Given the description of an element on the screen output the (x, y) to click on. 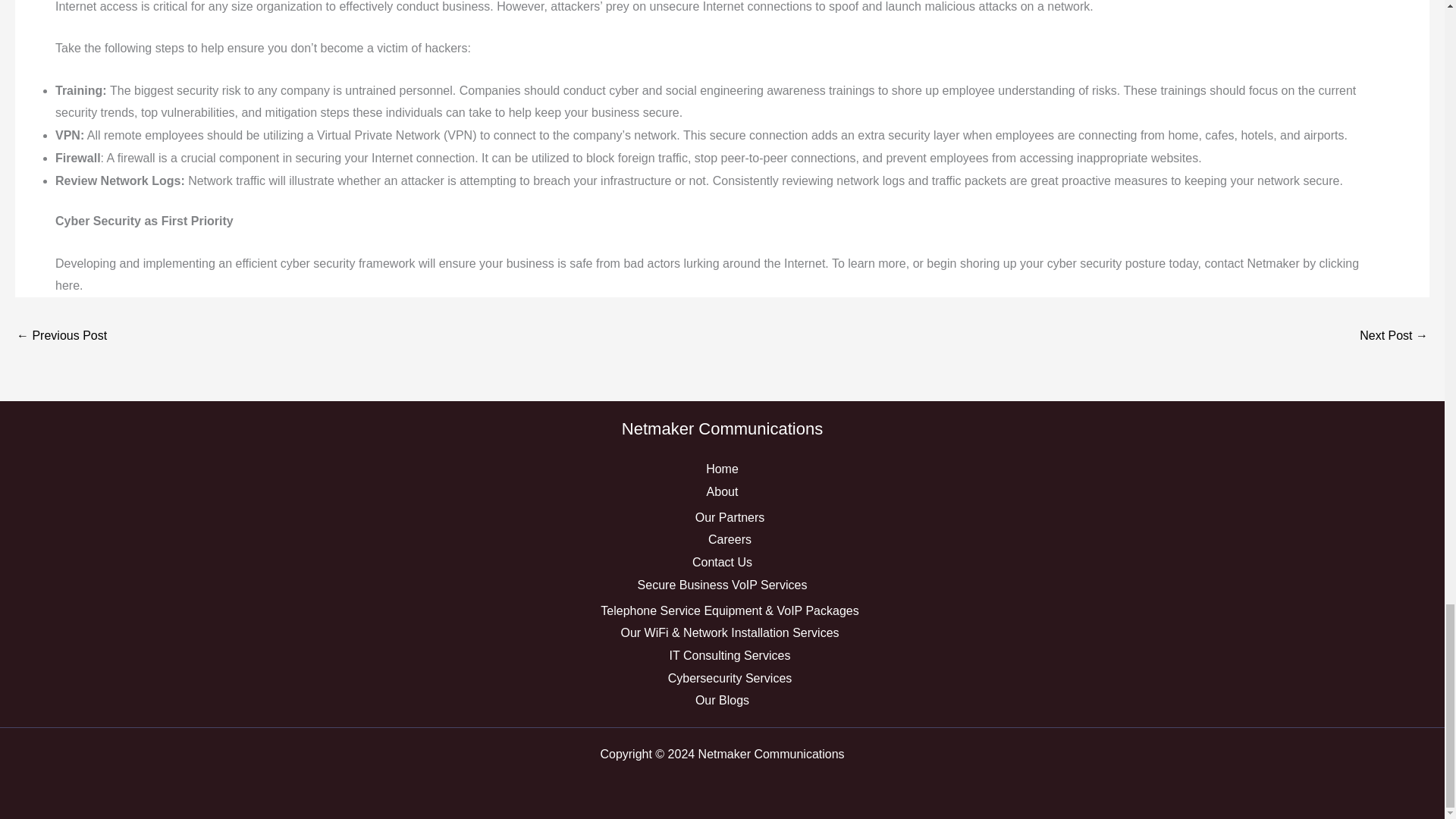
Careers (729, 539)
Putting The Cart Before The Horse (61, 336)
About (722, 491)
Home (722, 468)
Our Partners (730, 517)
